Given the description of an element on the screen output the (x, y) to click on. 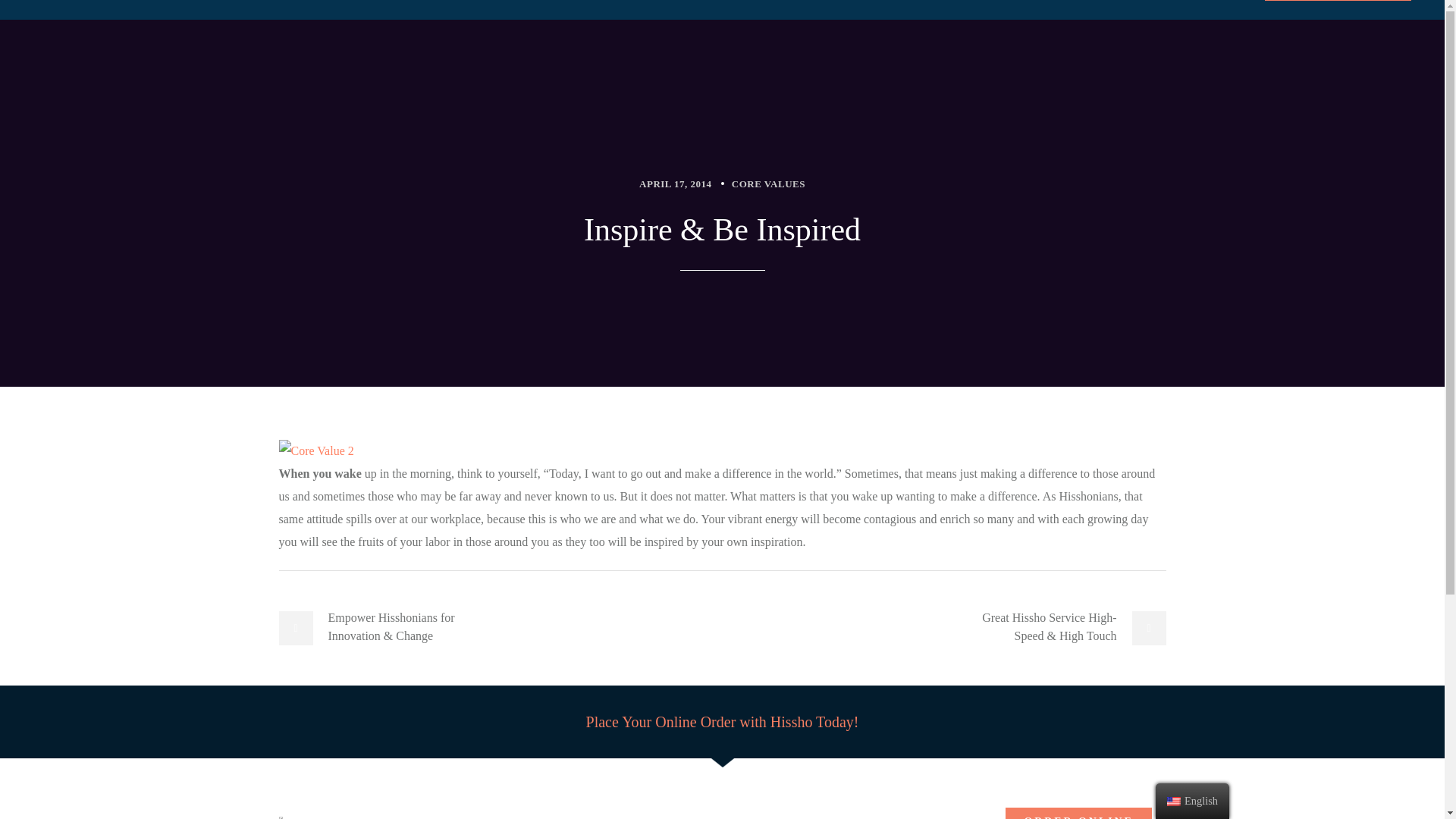
GALLERY (372, 0)
OWN YOUR OWN (638, 0)
ABOUT US (449, 0)
MENU (307, 0)
IN THE NEWS (534, 0)
English (1173, 800)
